Given the description of an element on the screen output the (x, y) to click on. 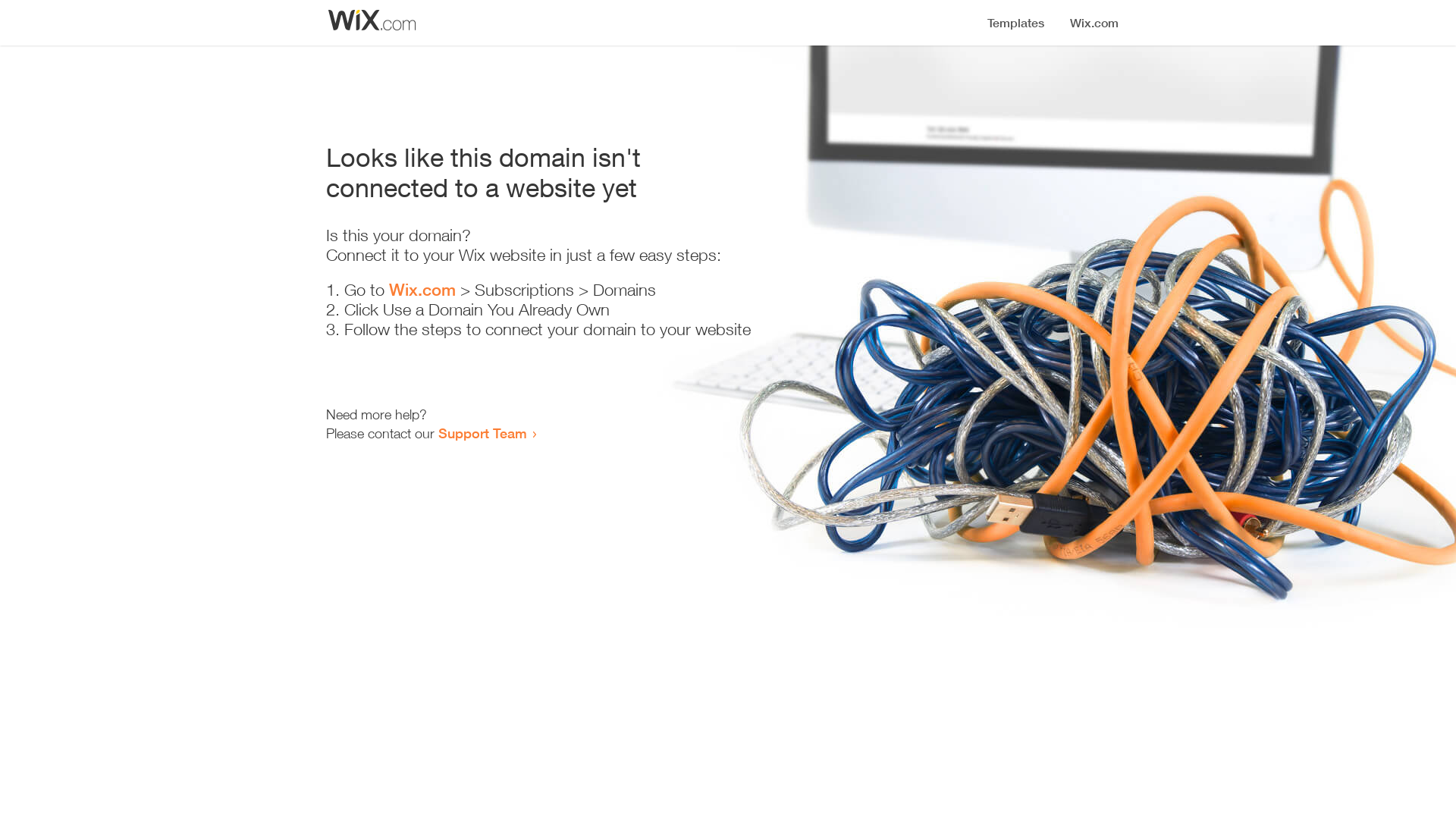
Support Team Element type: text (482, 432)
Wix.com Element type: text (422, 289)
